Given the description of an element on the screen output the (x, y) to click on. 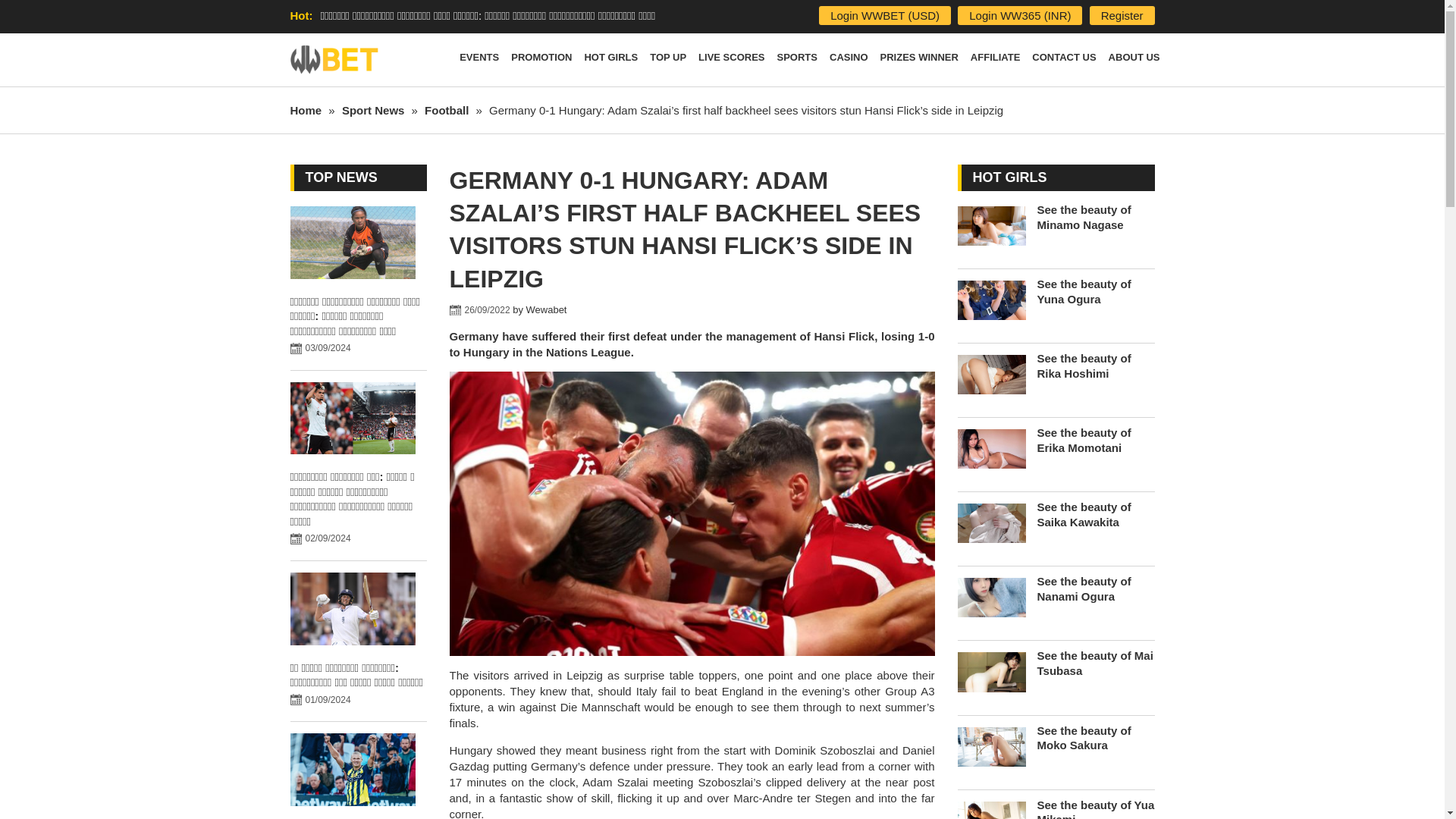
Register (1121, 15)
LIVE SCORES (731, 59)
PROMOTION (541, 59)
HOT GIRLS (610, 59)
